Given the description of an element on the screen output the (x, y) to click on. 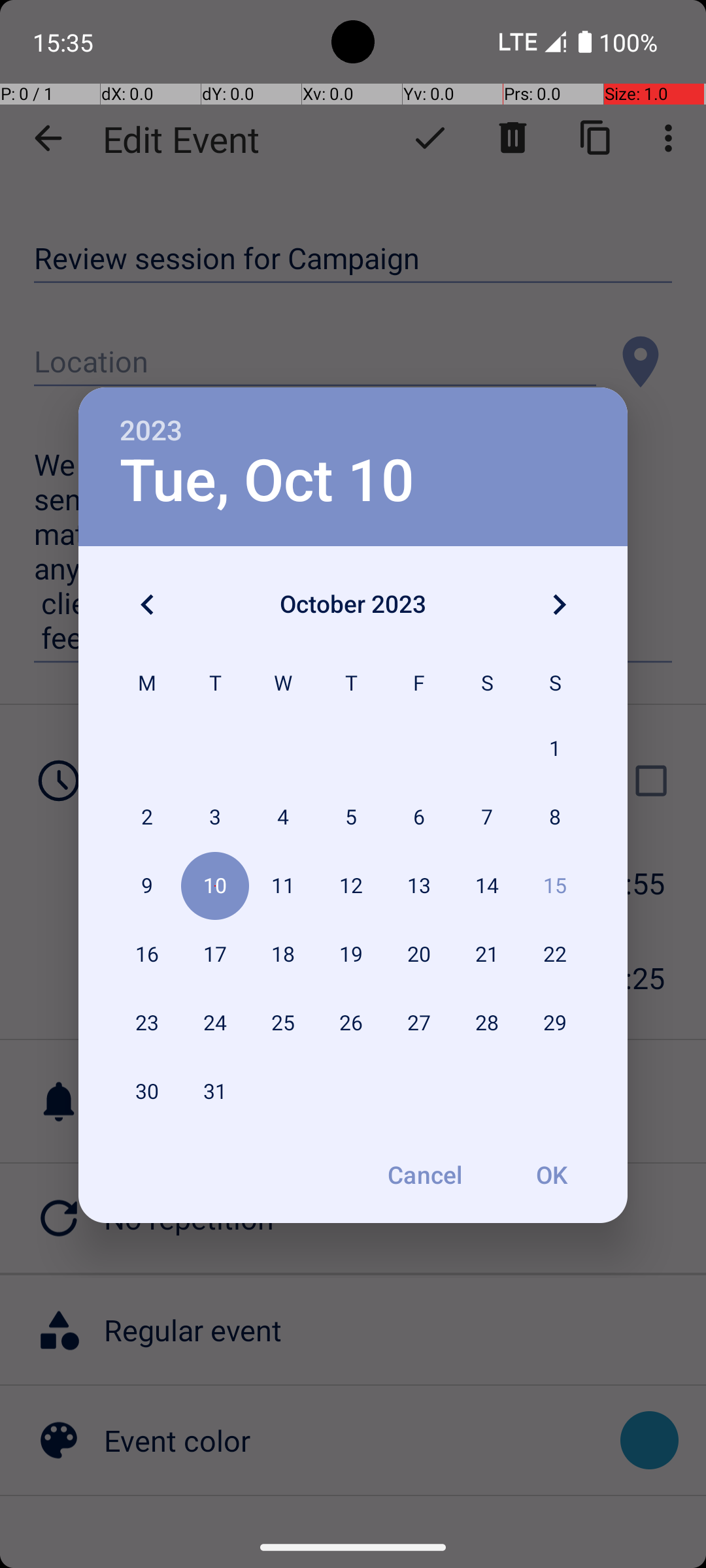
Tue, Oct 10 Element type: android.widget.TextView (267, 480)
